Given the description of an element on the screen output the (x, y) to click on. 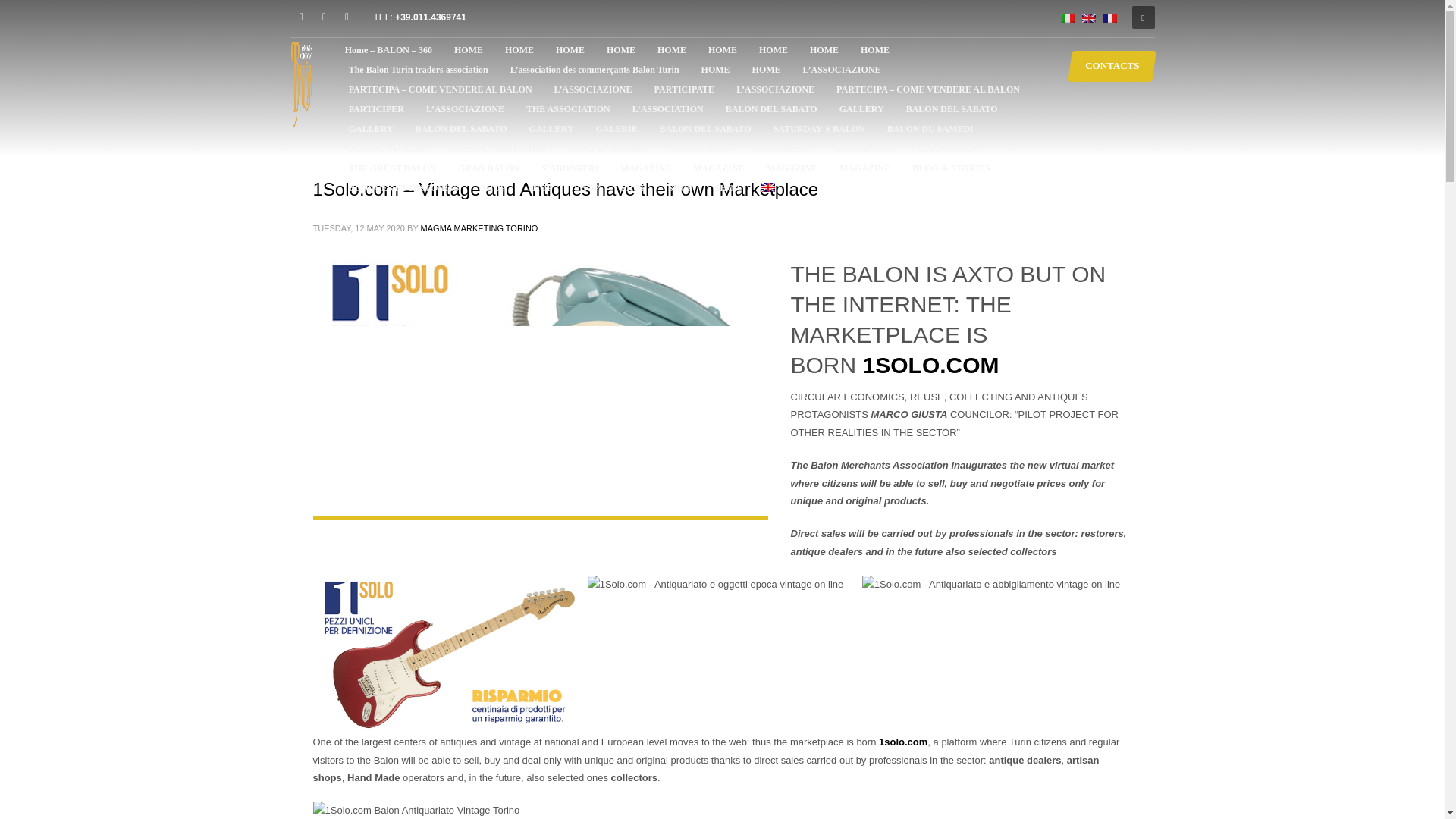
HOME (468, 49)
GALLERY (861, 108)
HOME (874, 49)
HOME (721, 49)
HOME (671, 49)
HOME (823, 49)
HOME (519, 49)
PARTICIPATE (684, 89)
BALON DEL SABATO (461, 128)
Posts by Magma Marketing Torino (479, 227)
